Given the description of an element on the screen output the (x, y) to click on. 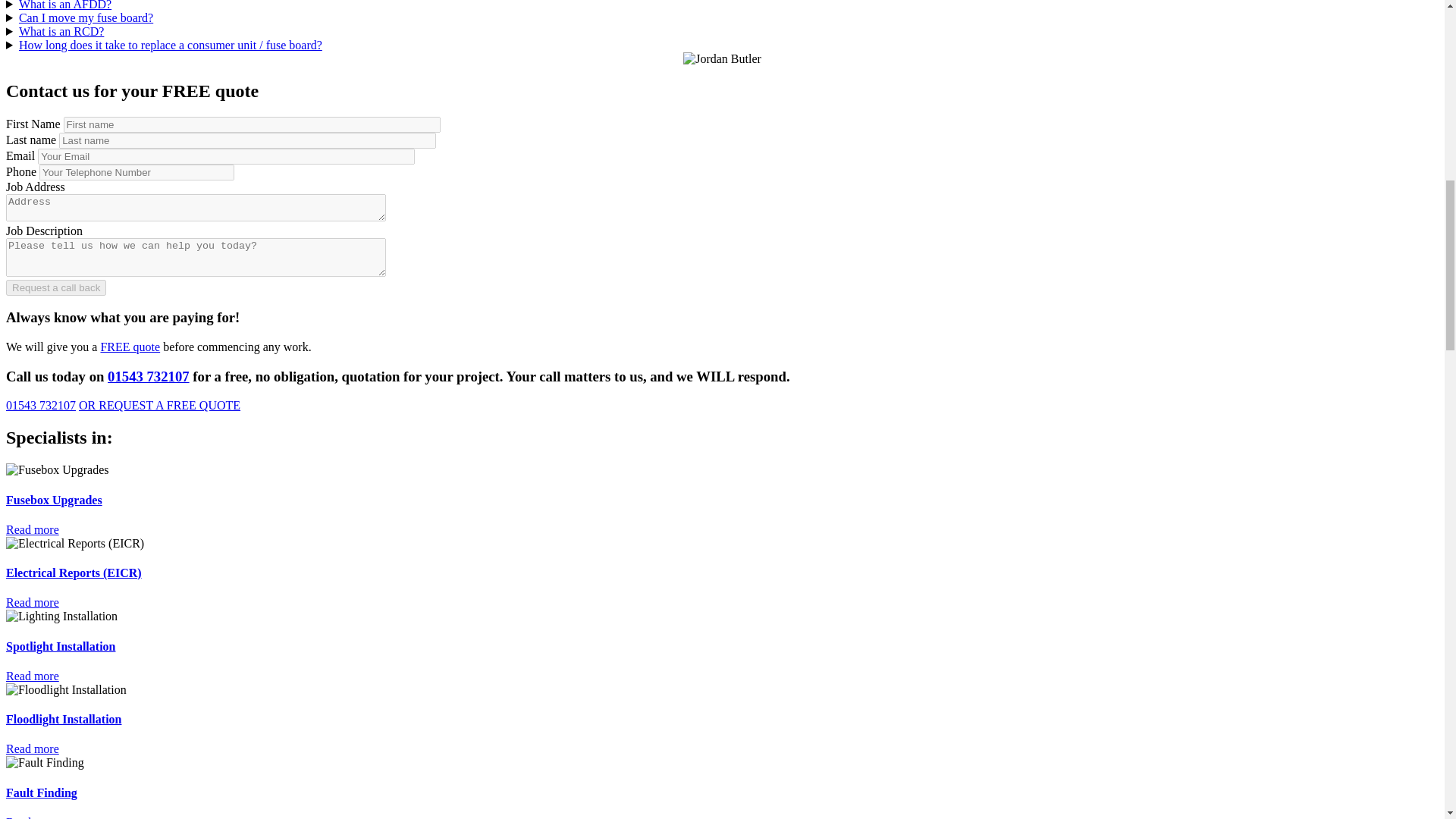
Request a call back (55, 287)
Floodlight Installation (65, 689)
OR REQUEST A FREE QUOTE (159, 404)
Request a call back (55, 287)
What is an AFDD? (65, 5)
FREE quote (130, 346)
What is an RCD? (60, 31)
Fault Finding (44, 762)
01543 732107 (40, 404)
01543 732107 (148, 376)
Fusebox Upgrades (53, 499)
Read more (32, 529)
Can I move my fuse board? (85, 17)
Fusebox Upgrades (57, 469)
Lighting Installation (61, 616)
